Given the description of an element on the screen output the (x, y) to click on. 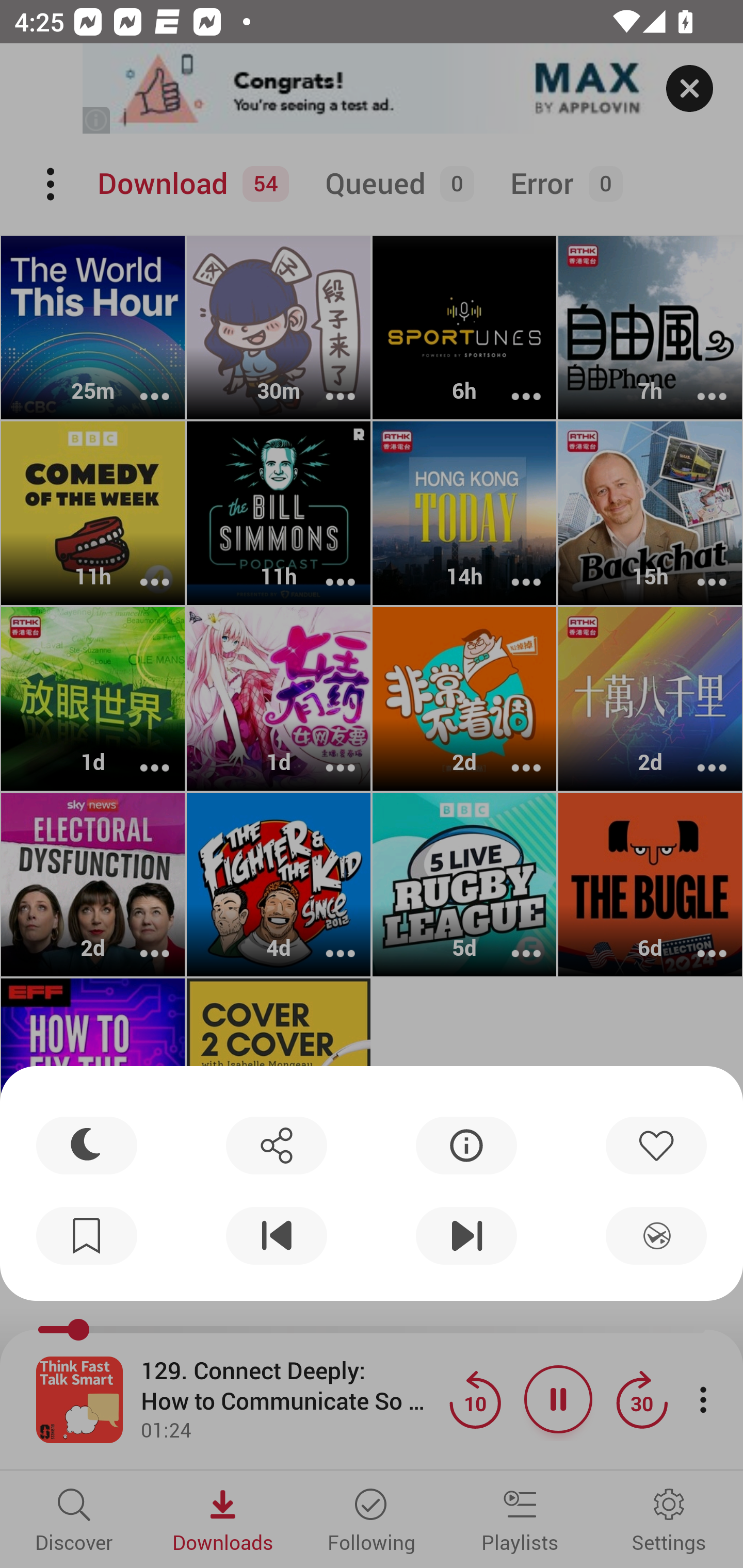
Sleep timer (86, 1145)
Share (275, 1145)
Info (466, 1145)
Like (655, 1145)
New bookmark … (86, 1236)
Previous (275, 1236)
Next (466, 1236)
Mark un-played (655, 1236)
